Given the description of an element on the screen output the (x, y) to click on. 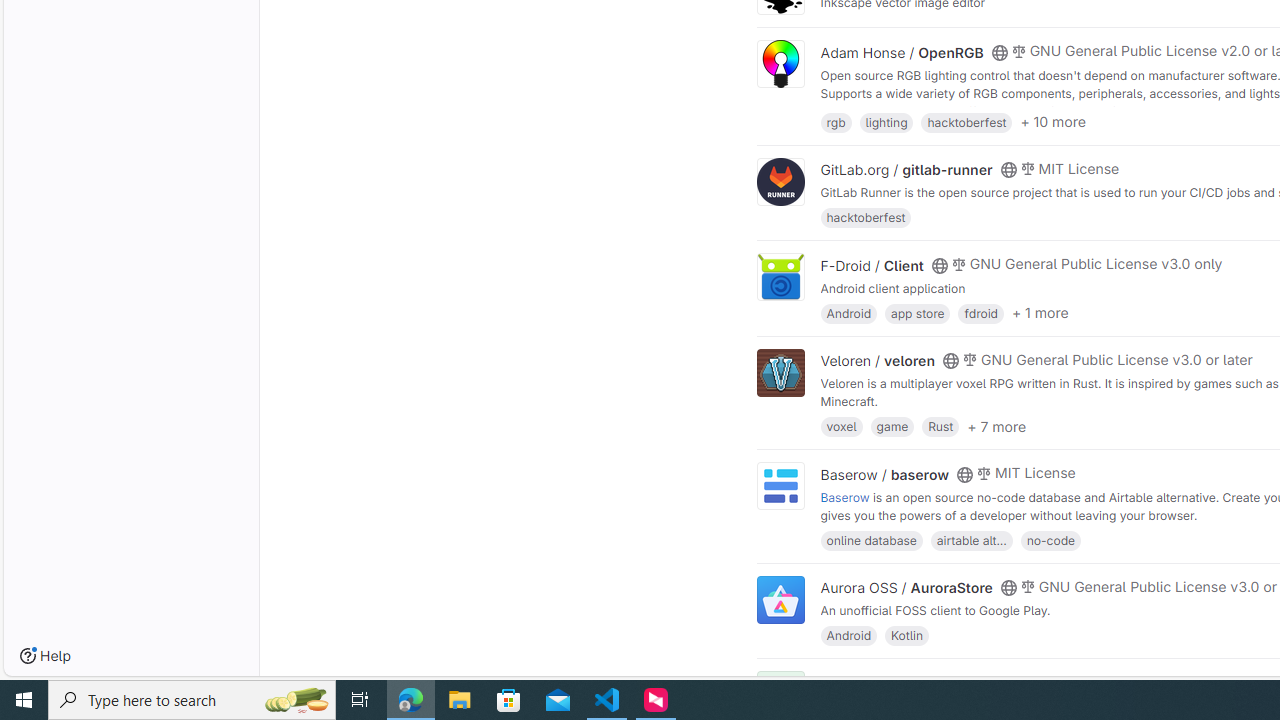
game (892, 426)
voxel (841, 426)
Rust (940, 426)
+ 1 more (1039, 313)
Adam Honse / OpenRGB (902, 52)
F (780, 695)
app store (917, 312)
https://openrgb.org (989, 110)
airtable alt... (971, 539)
Class: project (780, 599)
+ 7 more (996, 425)
Baserow / baserow (884, 474)
Baserow (845, 496)
online database (871, 539)
+ 10 more (1053, 121)
